Given the description of an element on the screen output the (x, y) to click on. 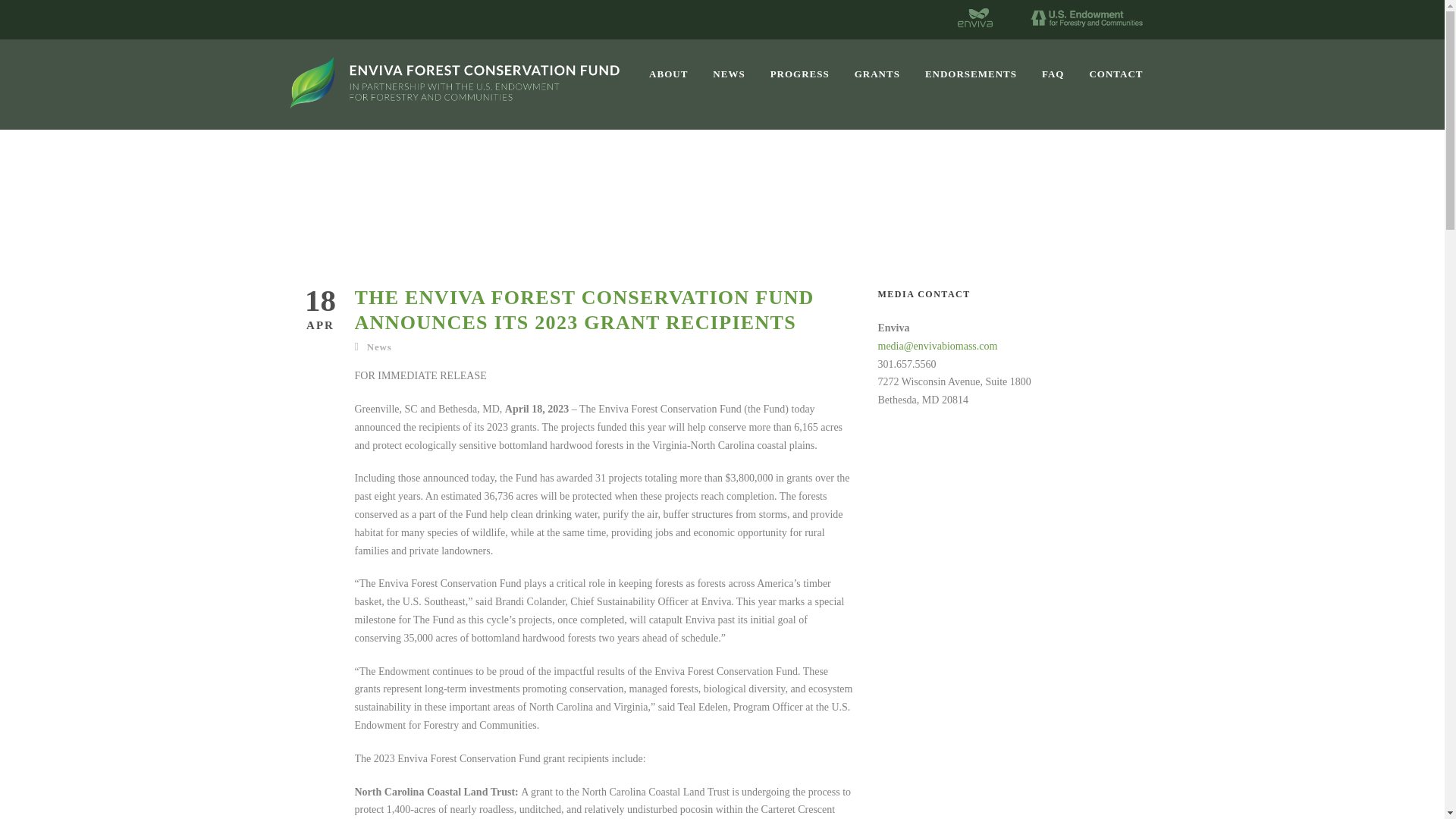
GRANTS (889, 87)
CONTACT (1115, 87)
ABOUT (681, 87)
FAQ (1065, 87)
PROGRESS (812, 87)
NEWS (741, 87)
ENDORSEMENTS (983, 87)
